Given the description of an element on the screen output the (x, y) to click on. 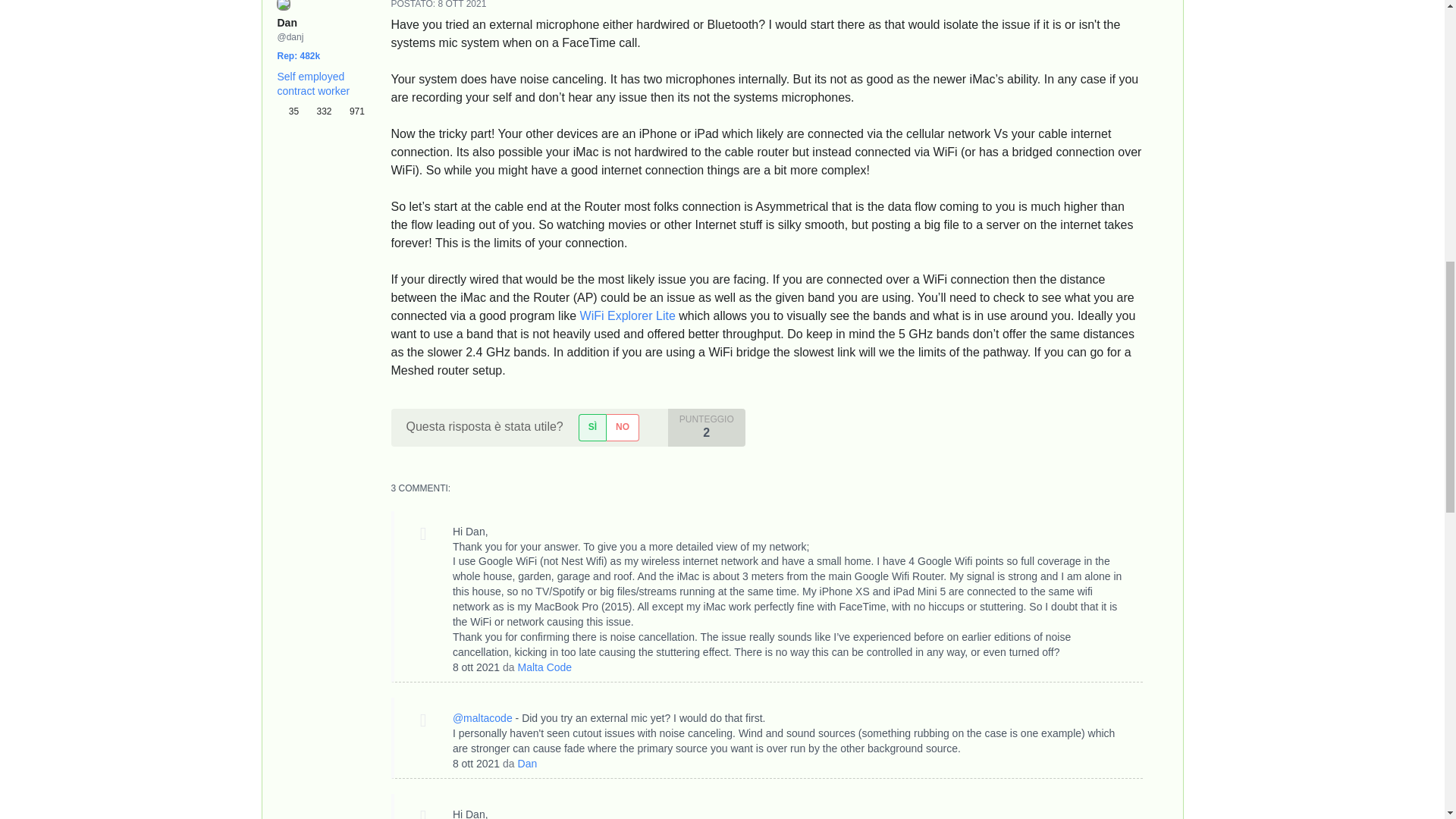
Self employed contract worker (314, 83)
332 Argento distintivi (320, 111)
POSTATO: 8 OTT 2021 (438, 4)
35 332 971 (321, 111)
Fri, 08 Oct 2021 09:20:46 -0700 (475, 666)
35 Bronzo distintivi (291, 111)
NO (622, 427)
Fri, 08 Oct 2021 12:12:15 -0700 (475, 763)
WiFi Explorer Lite (627, 315)
971 Gold distintivi (351, 111)
Fri, 08 Oct 2021 07:50:52 -0700 (462, 4)
